Given the description of an element on the screen output the (x, y) to click on. 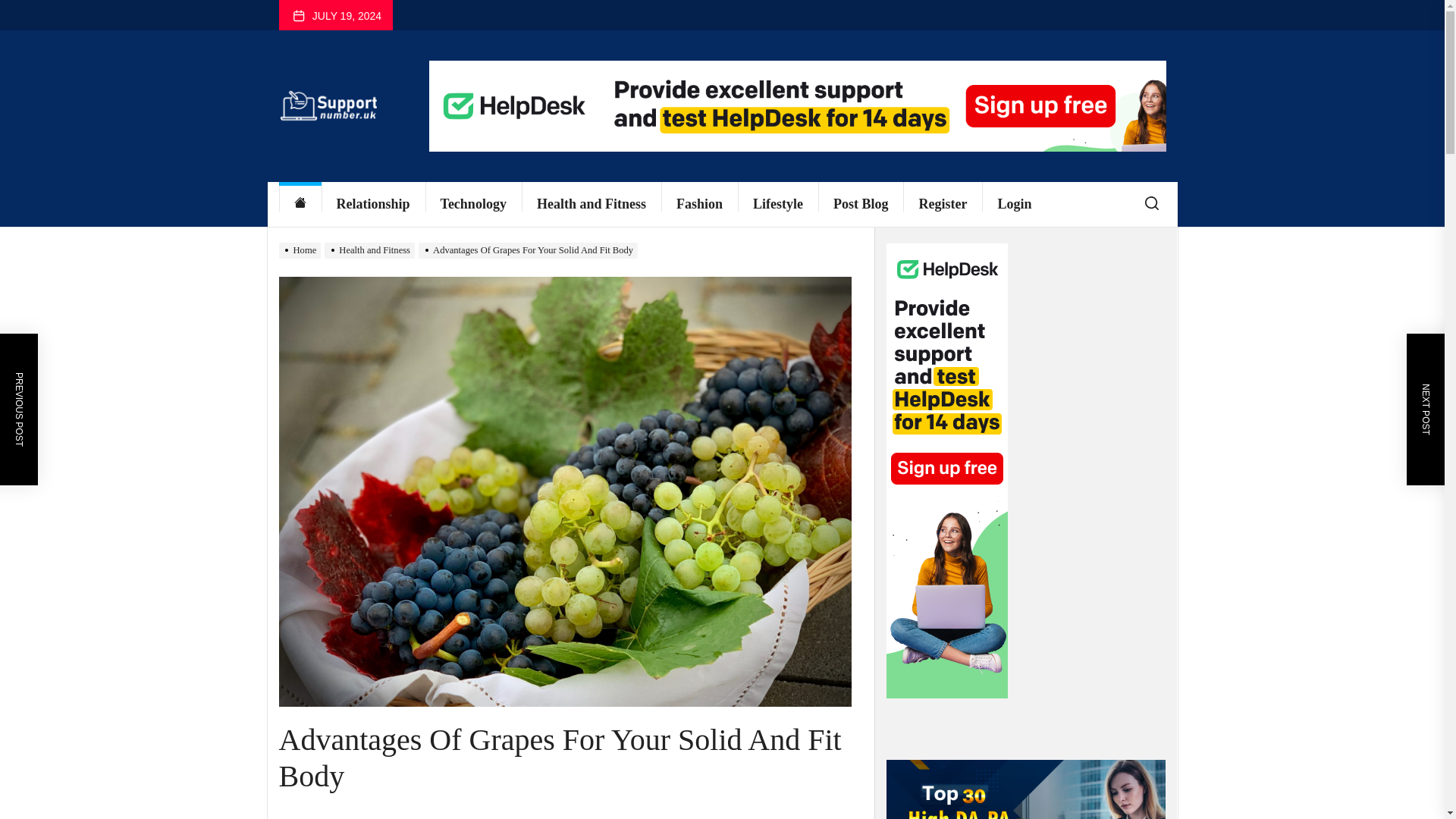
Health and Fitness (591, 203)
Post Blog (861, 203)
Lifestyle (778, 203)
Header AD Image (797, 105)
Login (1013, 203)
Register (941, 203)
Relationship (373, 203)
Technology (473, 203)
Fashion (699, 203)
Home (300, 203)
